Given the description of an element on the screen output the (x, y) to click on. 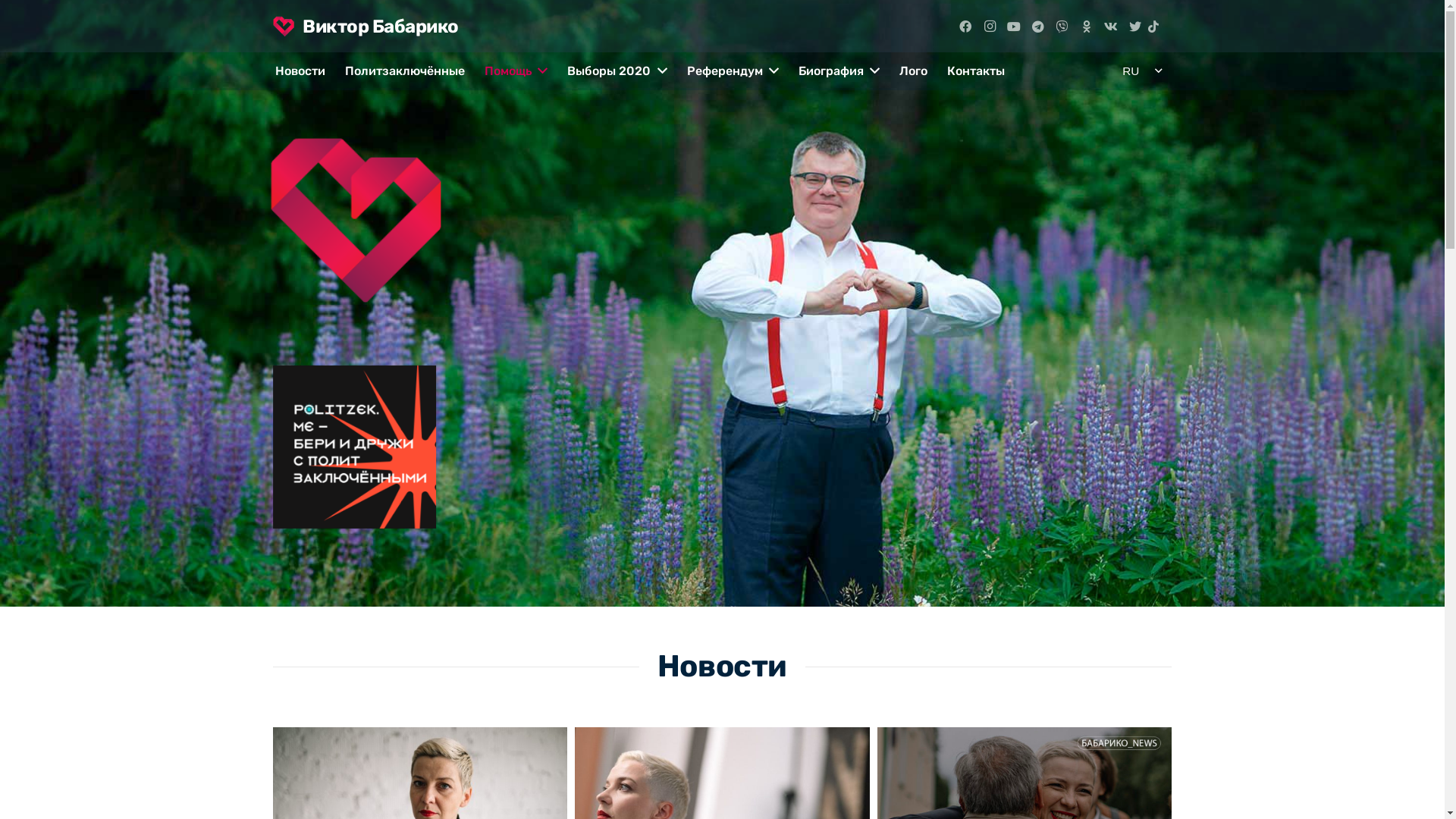
Telegram Element type: hover (1038, 25)
YouTube Element type: hover (1013, 25)
Viber Element type: hover (1062, 25)
Instagram Element type: hover (989, 25)
Odnoklassniki Element type: hover (1086, 25)
Vkontakte Element type: hover (1110, 25)
Twitter Element type: hover (1135, 25)
Facebook Element type: hover (965, 25)
TikTok Element type: hover (1159, 25)
RU Element type: text (1143, 71)
